Given the description of an element on the screen output the (x, y) to click on. 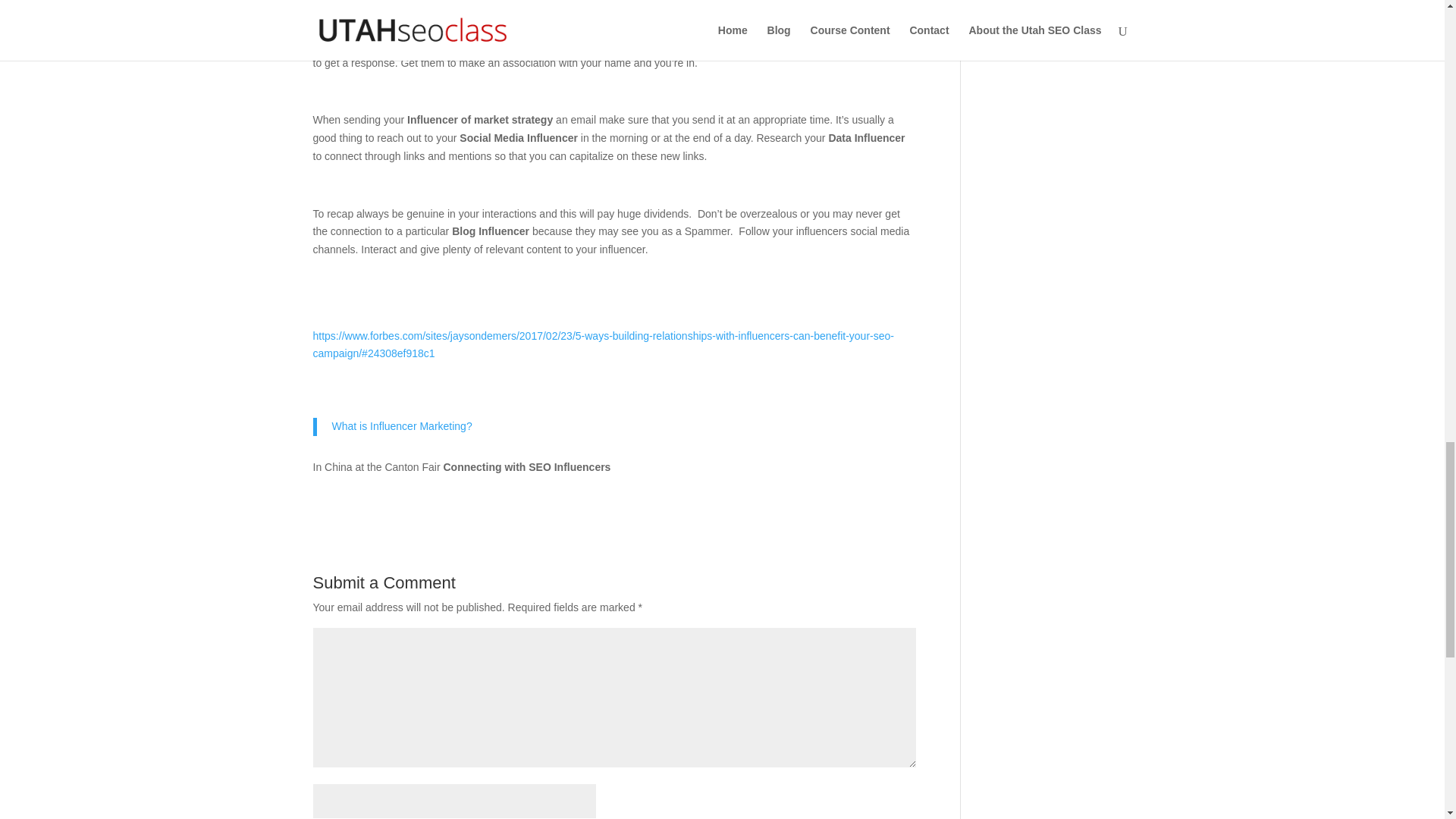
What is Influencer Marketing? (401, 426)
